Given the description of an element on the screen output the (x, y) to click on. 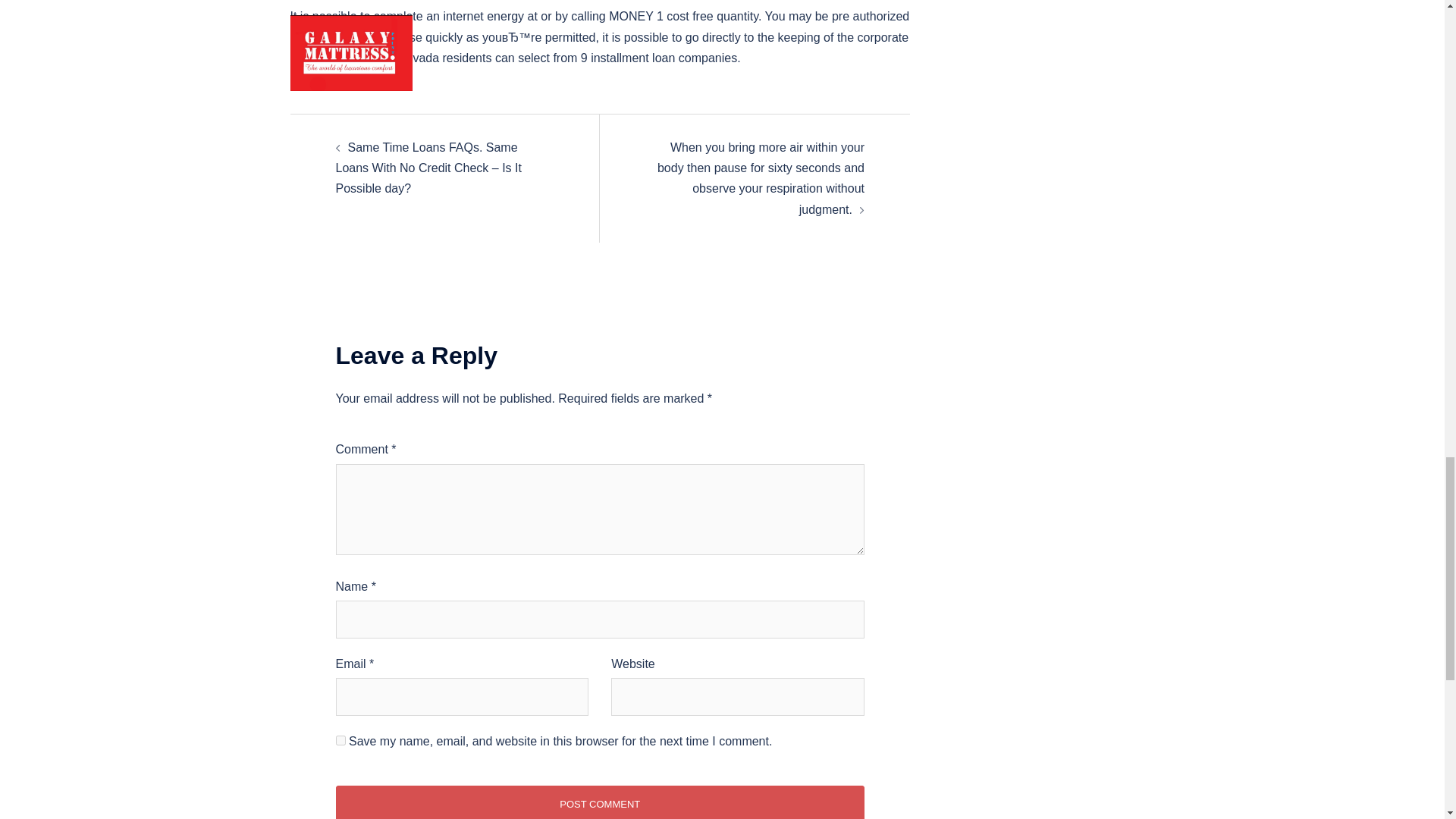
Post Comment (599, 802)
yes (339, 740)
Post Comment (599, 802)
